Given the description of an element on the screen output the (x, y) to click on. 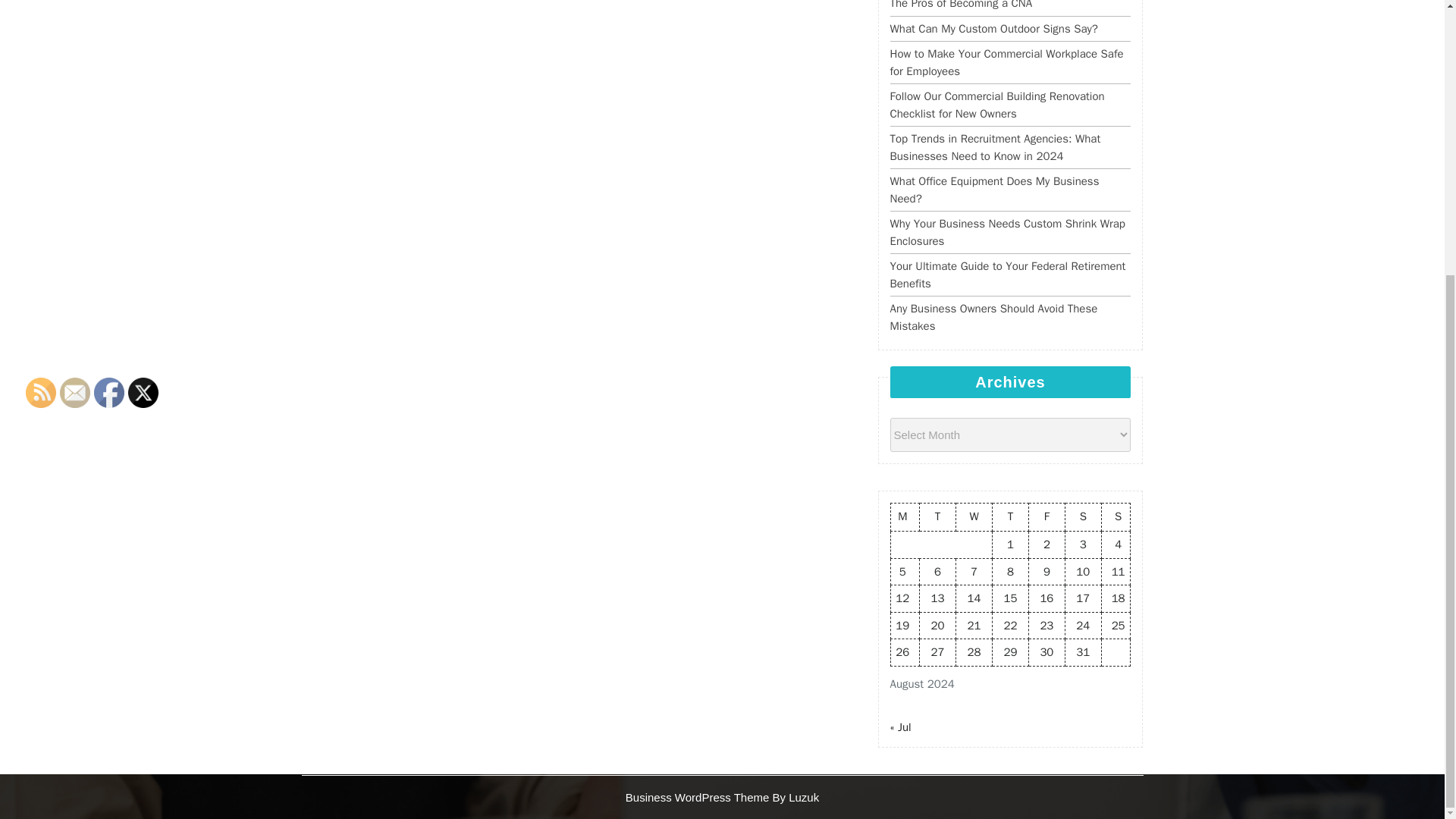
Monday (904, 517)
Twitter (143, 391)
Why Your Business Needs Custom Shrink Wrap Enclosures (1007, 232)
Follow by Email (74, 391)
RSS (41, 391)
Thursday (1009, 517)
What Office Equipment Does My Business Need? (994, 189)
Business WordPress Theme By Luzuk (721, 797)
What Can My Custom Outdoor Signs Say? (993, 29)
Friday (1045, 517)
Facebook (108, 391)
Tuesday (938, 517)
Any Business Owners Should Avoid These Mistakes (993, 317)
